Given the description of an element on the screen output the (x, y) to click on. 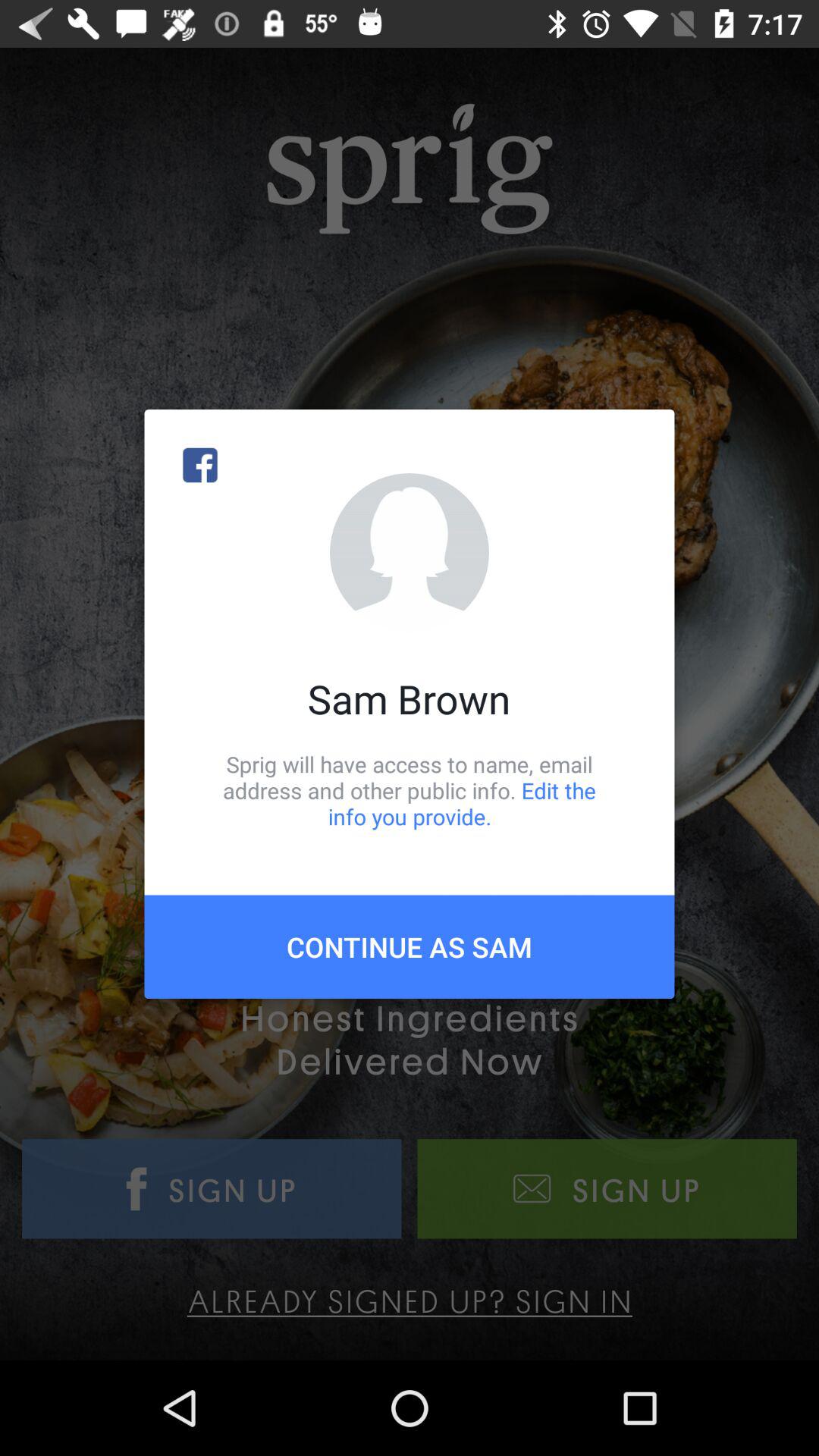
launch the item above the continue as sam item (409, 790)
